Given the description of an element on the screen output the (x, y) to click on. 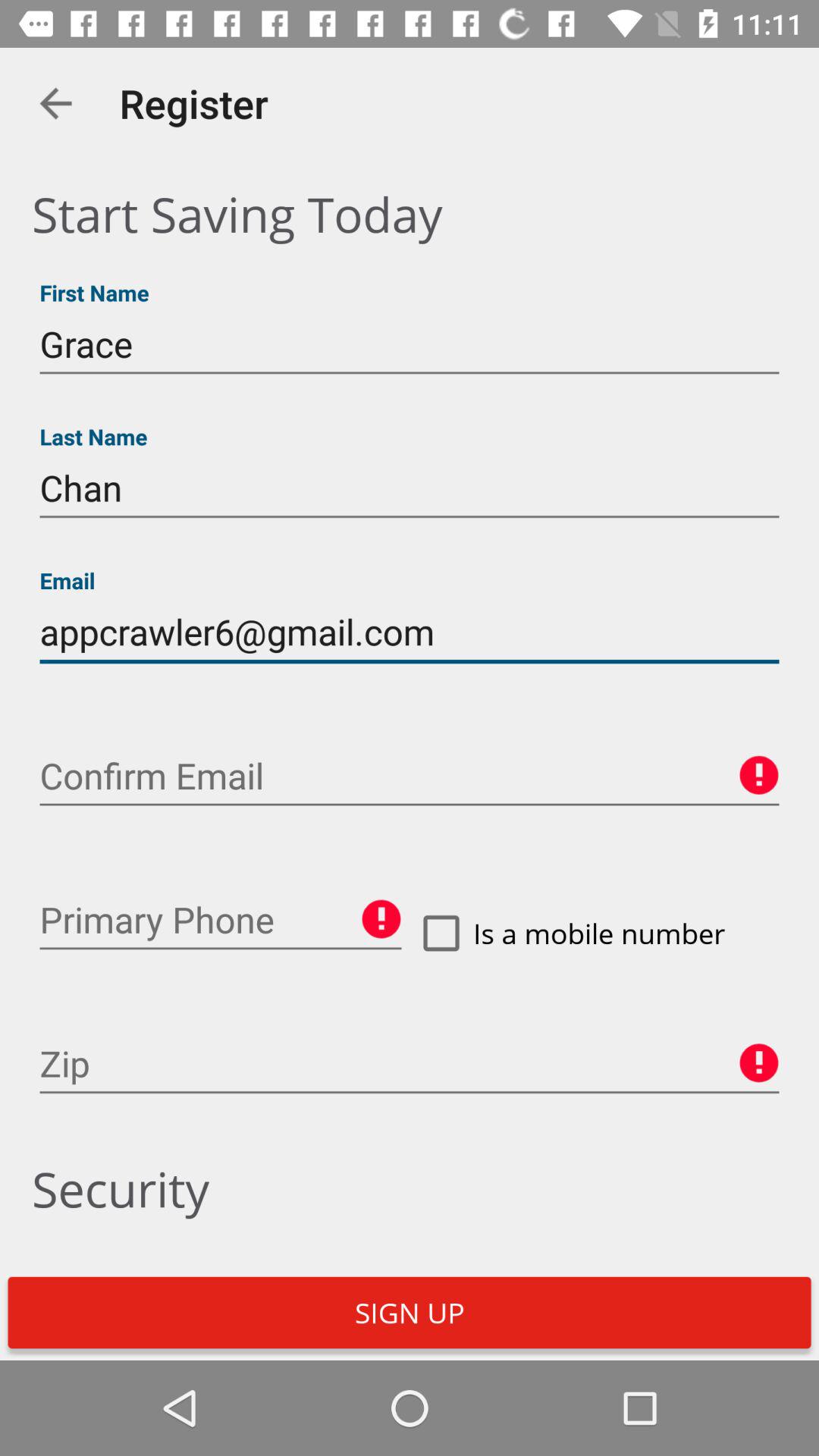
button page (220, 920)
